Given the description of an element on the screen output the (x, y) to click on. 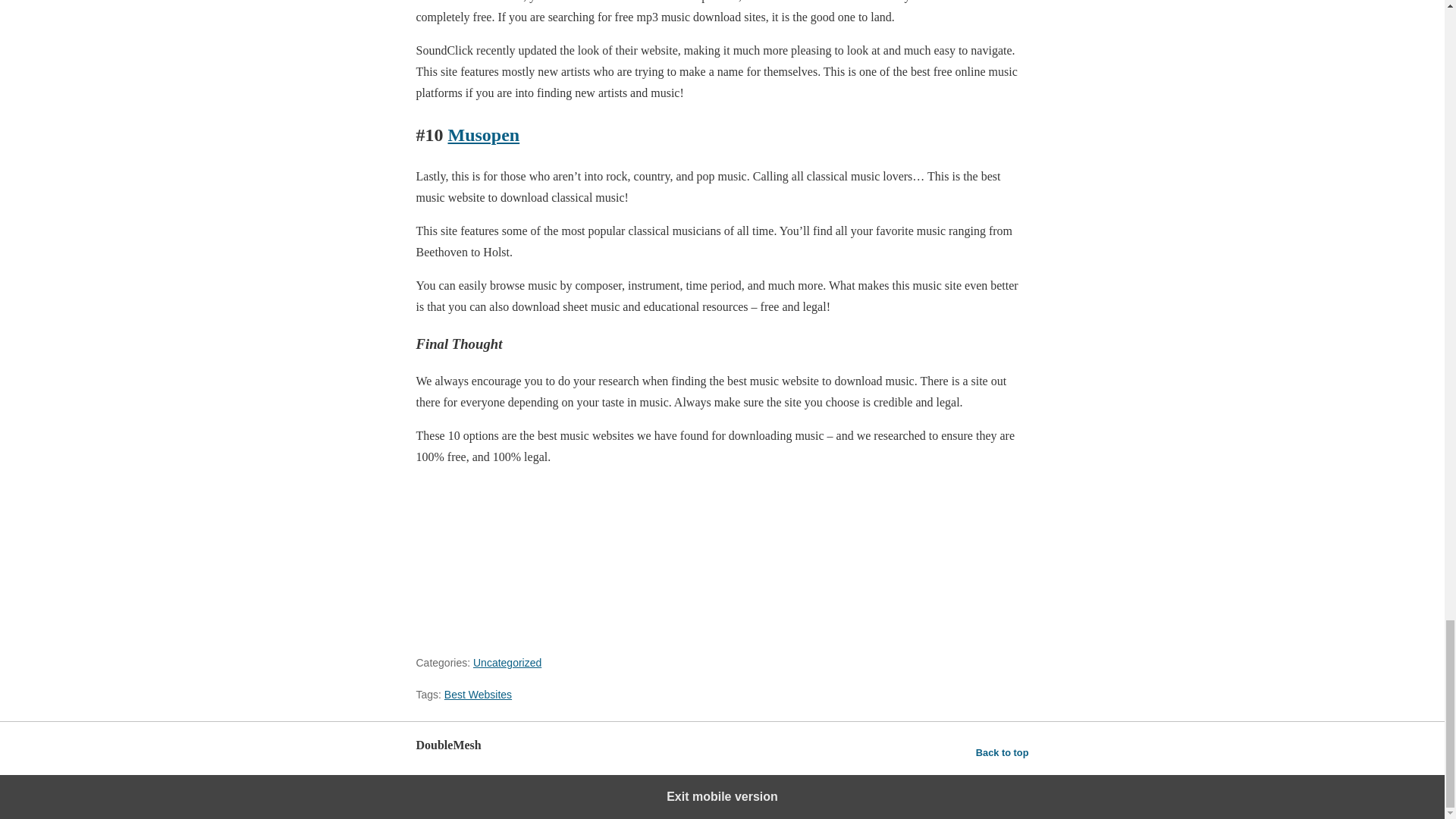
Best Websites (478, 694)
Musopen (482, 134)
Back to top (1002, 752)
Uncategorized (507, 662)
